Given the description of an element on the screen output the (x, y) to click on. 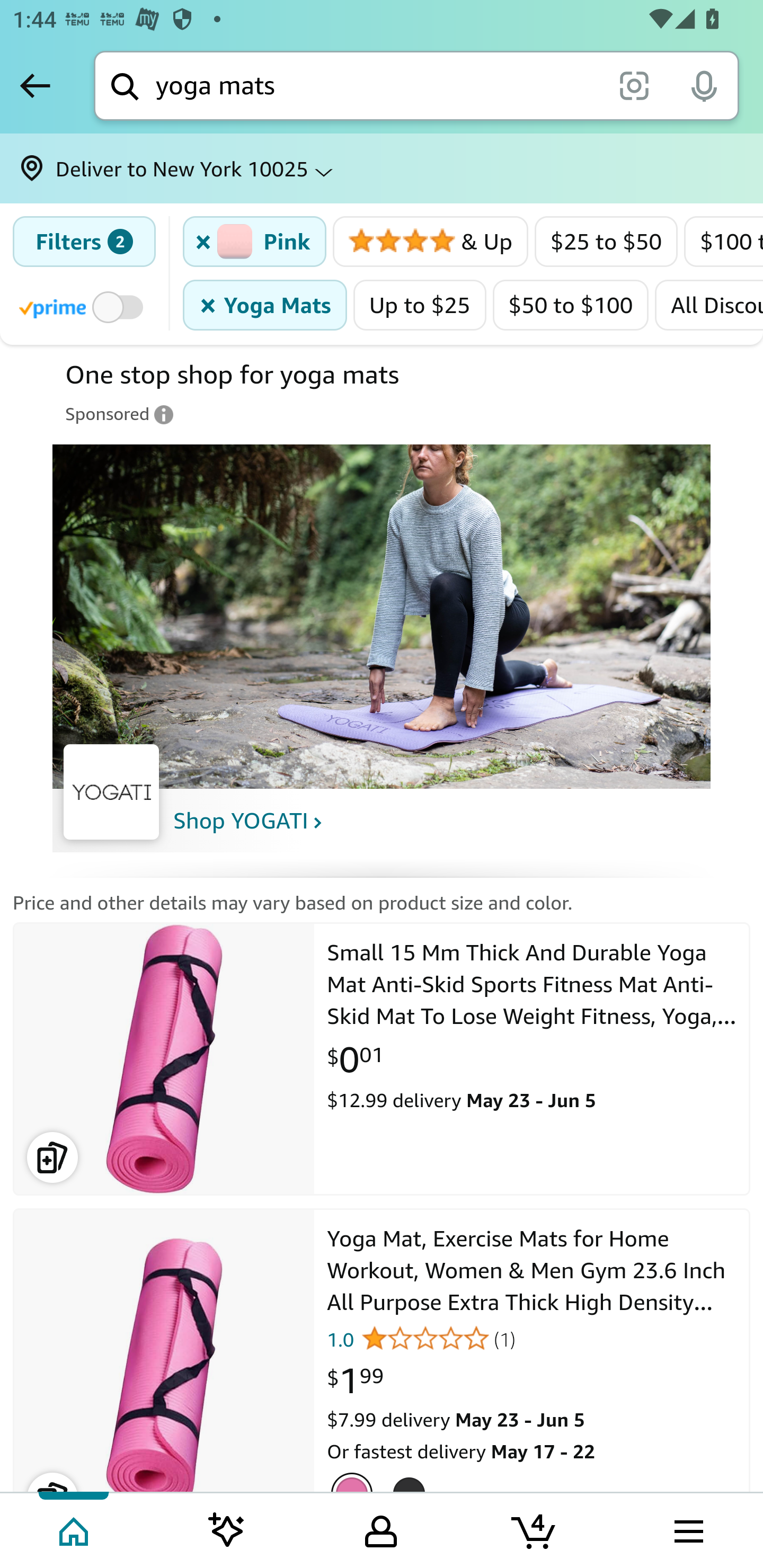
Back (35, 85)
scan it (633, 85)
Deliver to New York 10025 ⌵ (381, 168)
Filters 2 (83, 241)
× Pink Pink × Pink Pink (255, 241)
4 Stars & Up (430, 241)
$25 to $50 (606, 241)
$100 to $200 (723, 241)
Toggle to filter by Prime products Prime Eligible (83, 306)
× Yoga Mats × Yoga Mats (265, 304)
Up to $25 (419, 304)
$50 to $100 (570, 304)
All Discounts (708, 304)
Leave feedback on Sponsored ad (119, 414)
Shop YOGATI Shop  YOGATI  (247, 820)
Home Tab 1 of 5 (75, 1529)
Inspire feed Tab 2 of 5 (227, 1529)
Your Amazon.com Tab 3 of 5 (380, 1529)
Cart 4 items Tab 4 of 5 4 (534, 1529)
Browse menu Tab 5 of 5 (687, 1529)
